Given the description of an element on the screen output the (x, y) to click on. 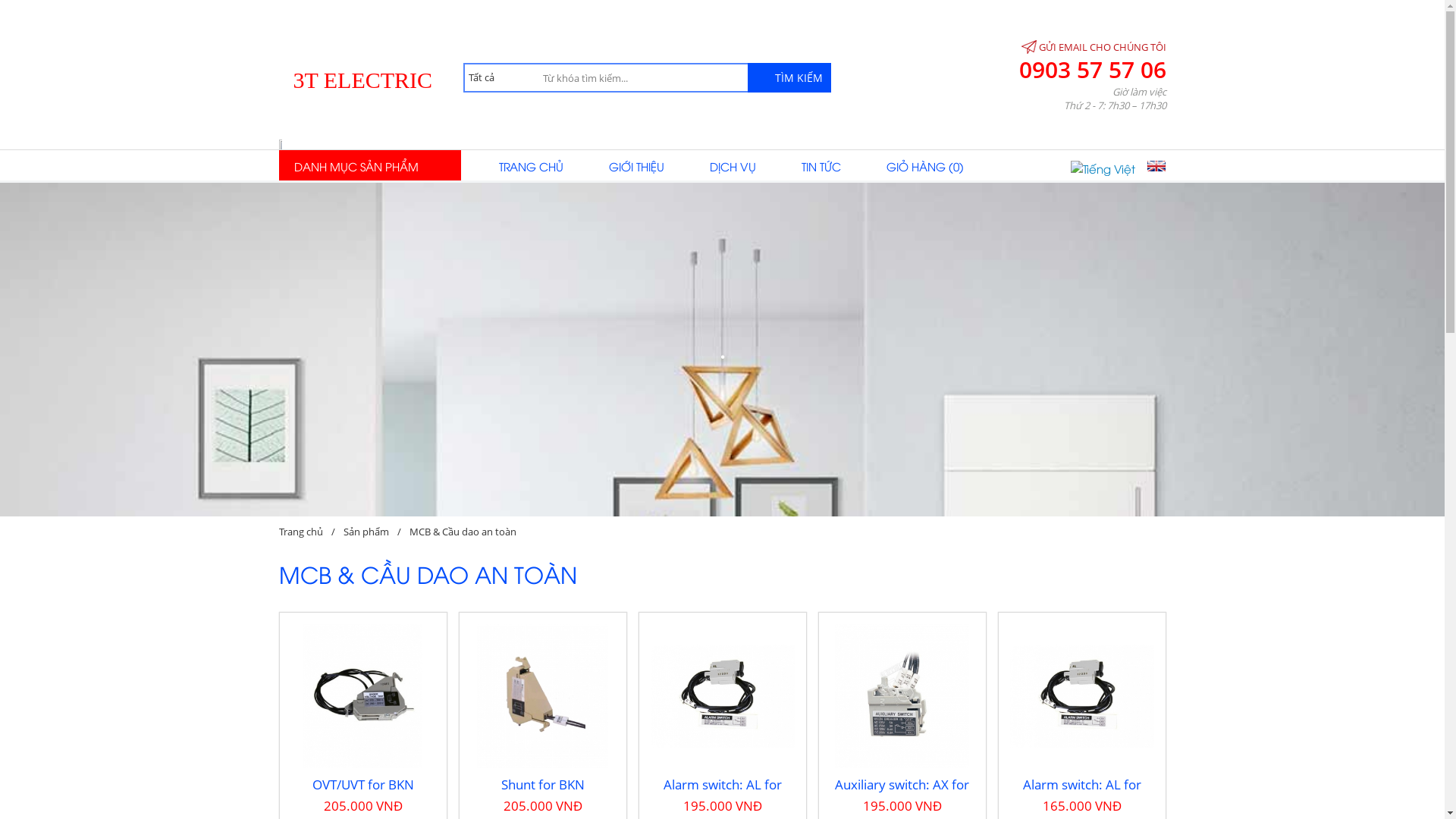
English Element type: hover (1155, 165)
Shunt for BKN Element type: text (541, 784)
OVT/UVT for BKN Element type: hover (362, 696)
Alarm switch: AL for BKN Element type: hover (1082, 696)
Alarm switch: AL for BKN-b Element type: hover (722, 696)
Alarm switch: AL for BKN Element type: text (1081, 792)
Alarm switch: AL for BKN-b Element type: text (721, 792)
Auxiliary switch: AX for BKN-b Element type: hover (901, 696)
OVT/UVT for BKN Element type: text (363, 784)
Shunt for BKN Element type: hover (542, 696)
0903 57 57 06 Element type: text (1080, 68)
Auxiliary switch: AX for BKN-b Element type: text (901, 792)
                       Element type: text (1394, 497)
